Given the description of an element on the screen output the (x, y) to click on. 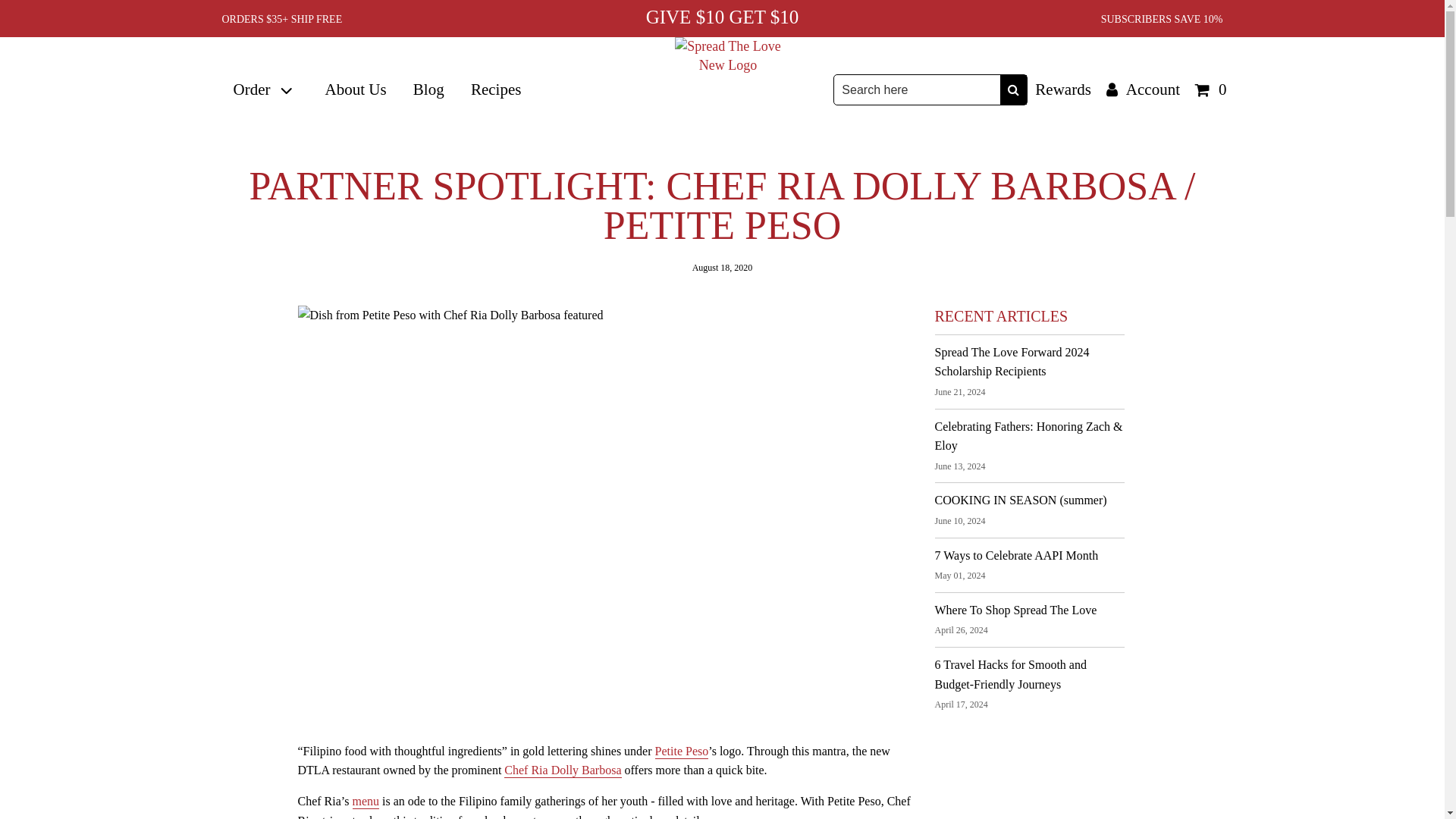
Recipes (496, 90)
Petite Peso (682, 751)
Rewards (1062, 89)
About Us (355, 90)
Log in (1143, 89)
Account (1143, 89)
Petite Peso (682, 751)
Chef Ria Dolly Barbosa (562, 770)
Skip to content (6, 6)
Order (264, 90)
Cart - 0 (1211, 89)
Blog (428, 90)
Petite Peso Menu (365, 801)
